Given the description of an element on the screen output the (x, y) to click on. 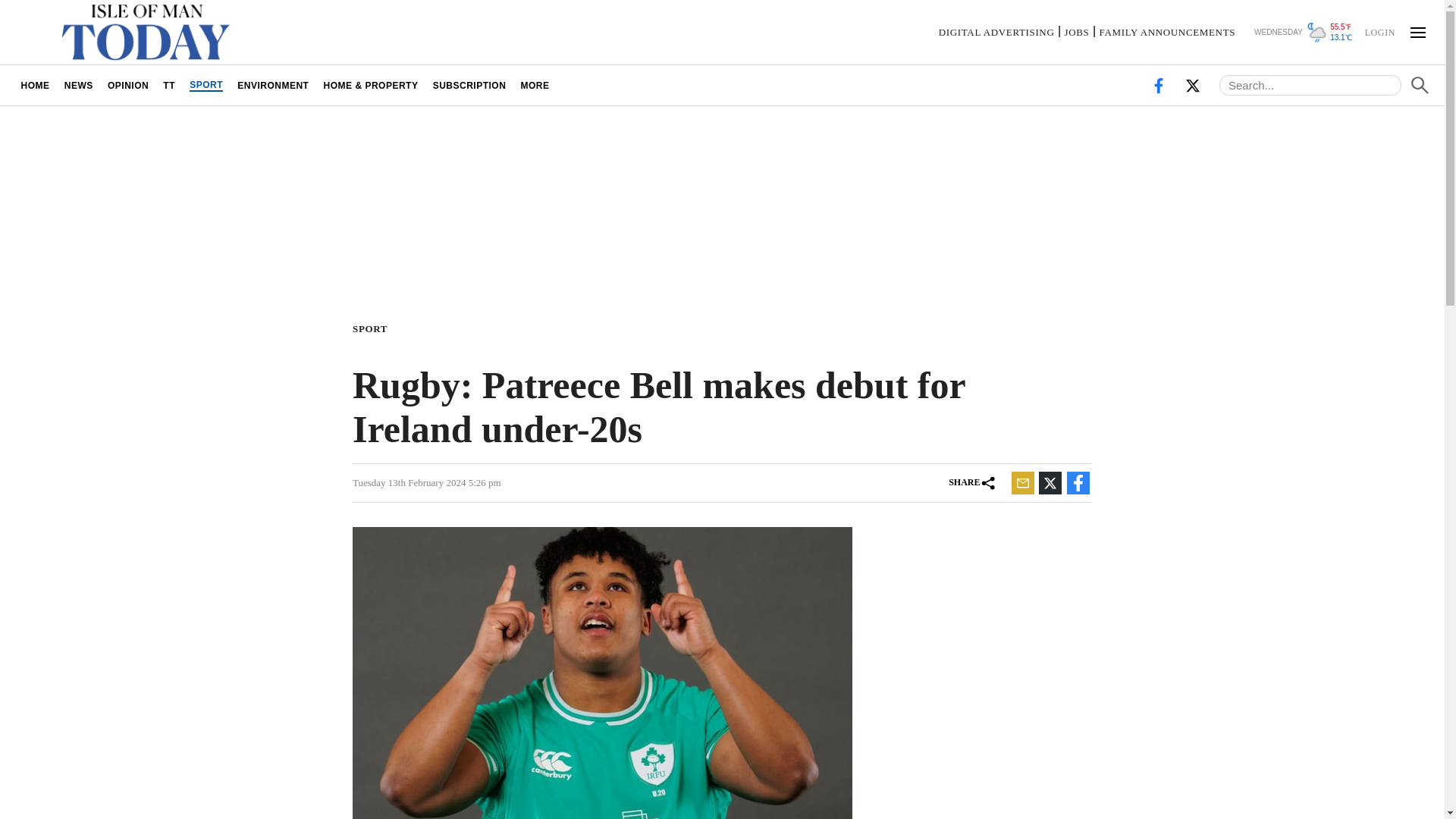
FAMILY ANNOUNCEMENTS (1166, 32)
SPORT (206, 85)
HOME (34, 85)
OPINION (127, 85)
LOGIN (1379, 31)
SPORT (372, 328)
SUBSCRIPTION (469, 85)
NEWS (78, 85)
MORE (534, 85)
ENVIRONMENT (272, 85)
